Given the description of an element on the screen output the (x, y) to click on. 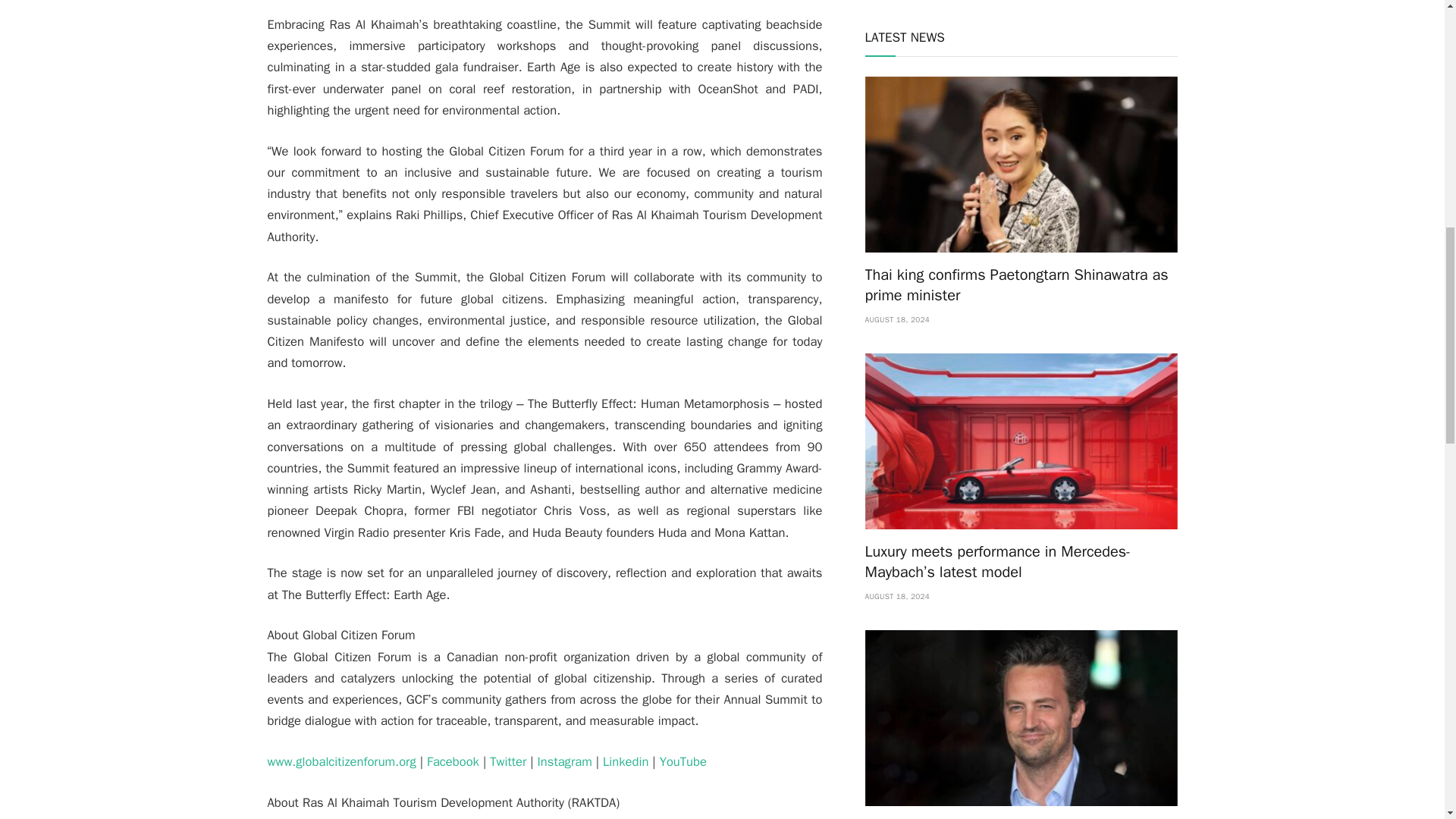
YouTube (682, 761)
Facebook (452, 761)
Linkedin (624, 761)
Twitter (507, 761)
www.globalcitizenforum.org (340, 761)
Instagram (564, 761)
